Given the description of an element on the screen output the (x, y) to click on. 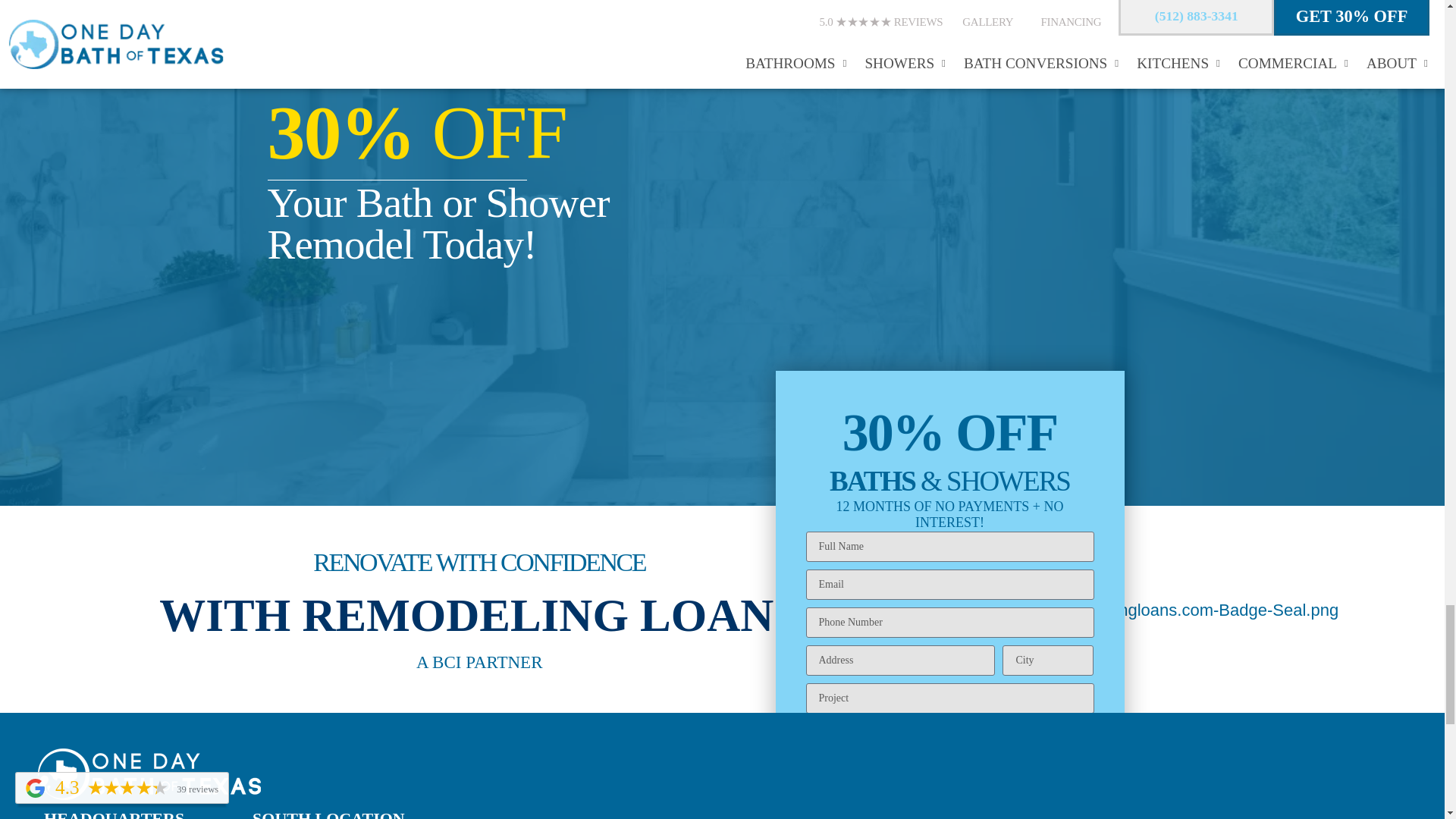
Remodelingloans.com-Badge-Seal.png (1186, 609)
